Given the description of an element on the screen output the (x, y) to click on. 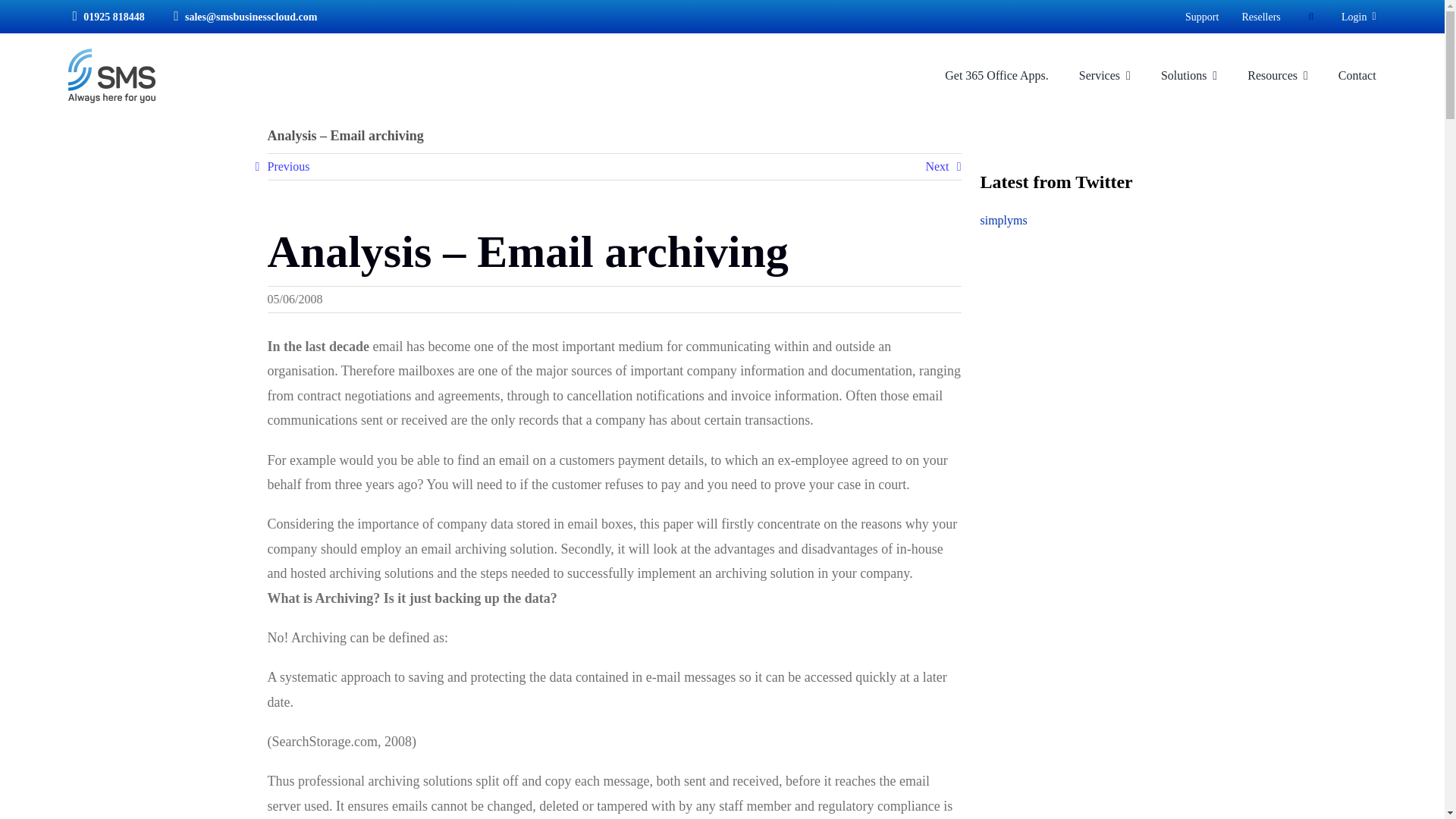
01925 818448 (104, 15)
Logo dark - SMS (111, 75)
Login (1357, 15)
Resellers (1260, 15)
Support (1201, 15)
